Given the description of an element on the screen output the (x, y) to click on. 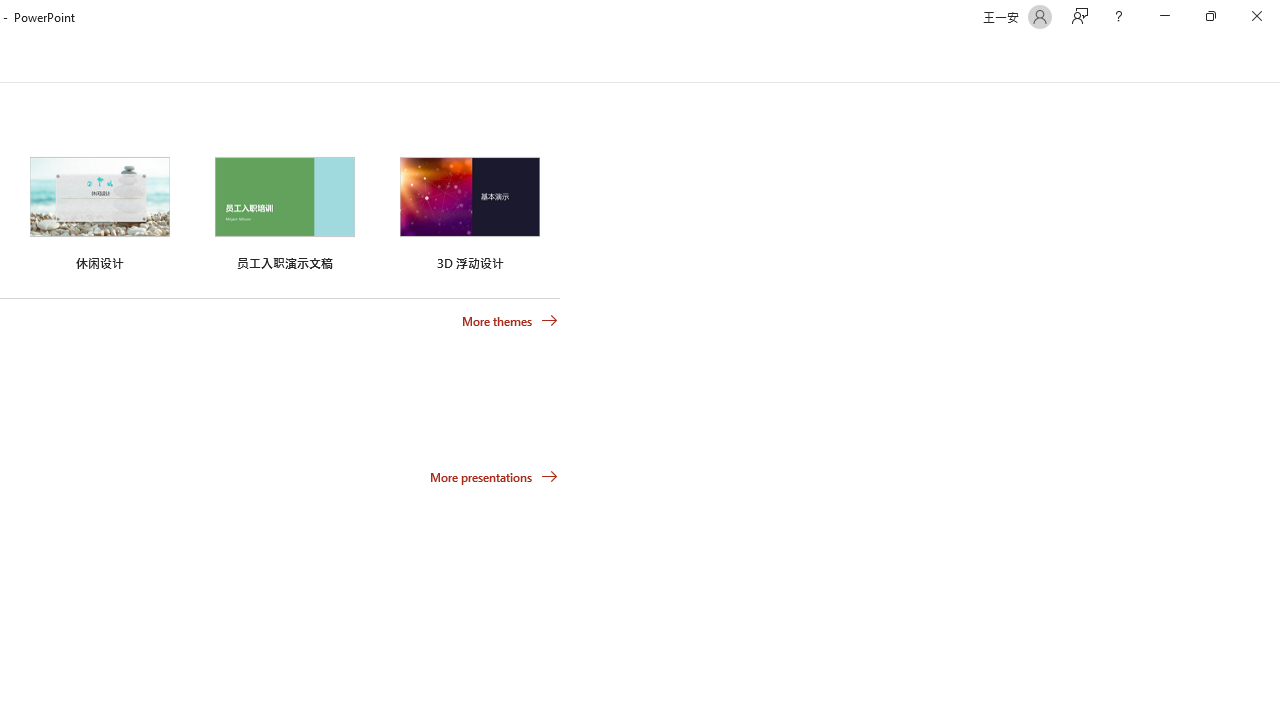
More presentations (493, 476)
Class: NetUIScrollBar (1271, 59)
More themes (509, 321)
